Given the description of an element on the screen output the (x, y) to click on. 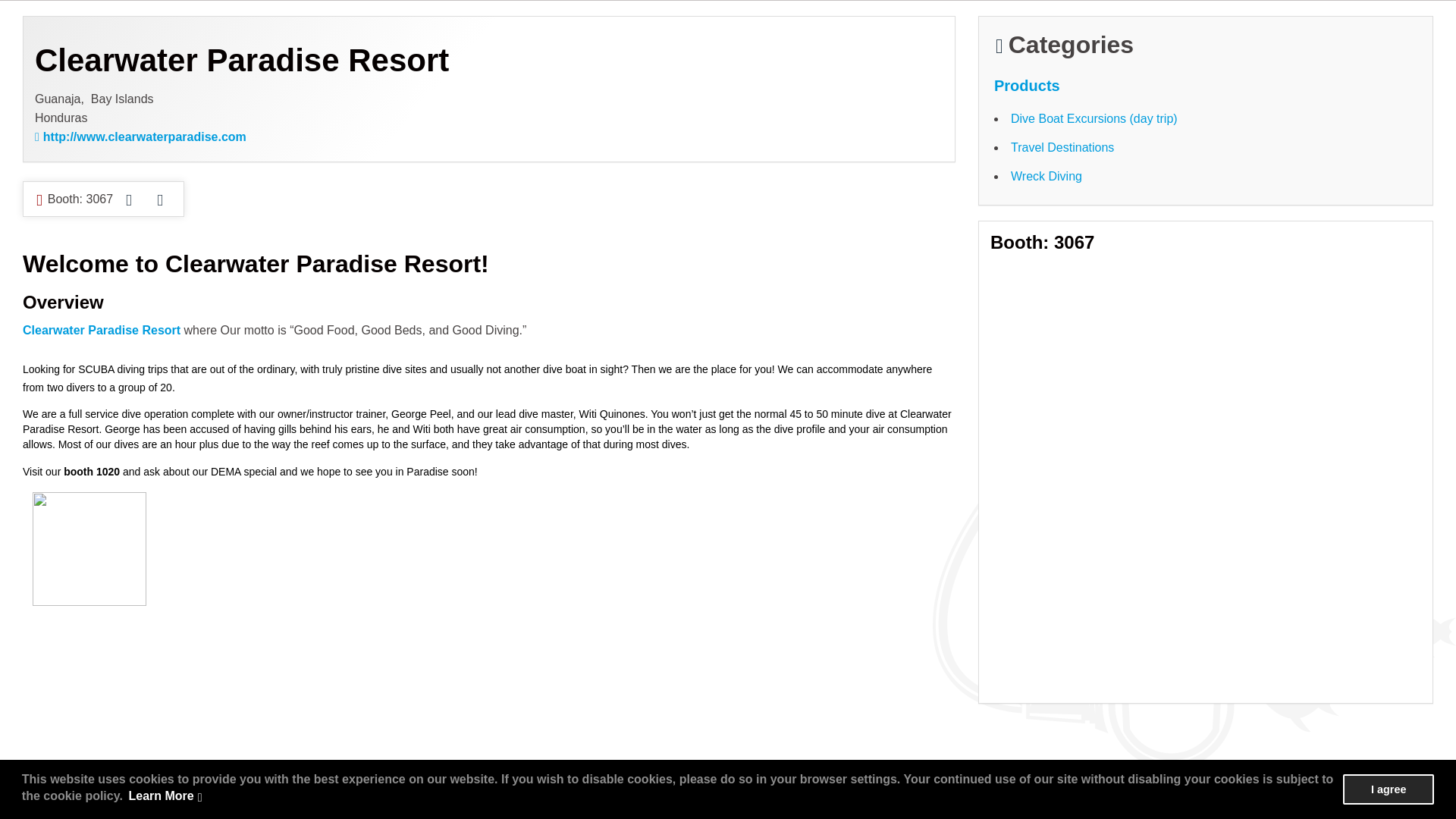
Print (128, 198)
Add To My Exhibitors (159, 200)
Travel Destinations (1061, 146)
Products (1026, 85)
Clearwater Paradise Resort (101, 329)
Wreck Diving (1045, 175)
